Given the description of an element on the screen output the (x, y) to click on. 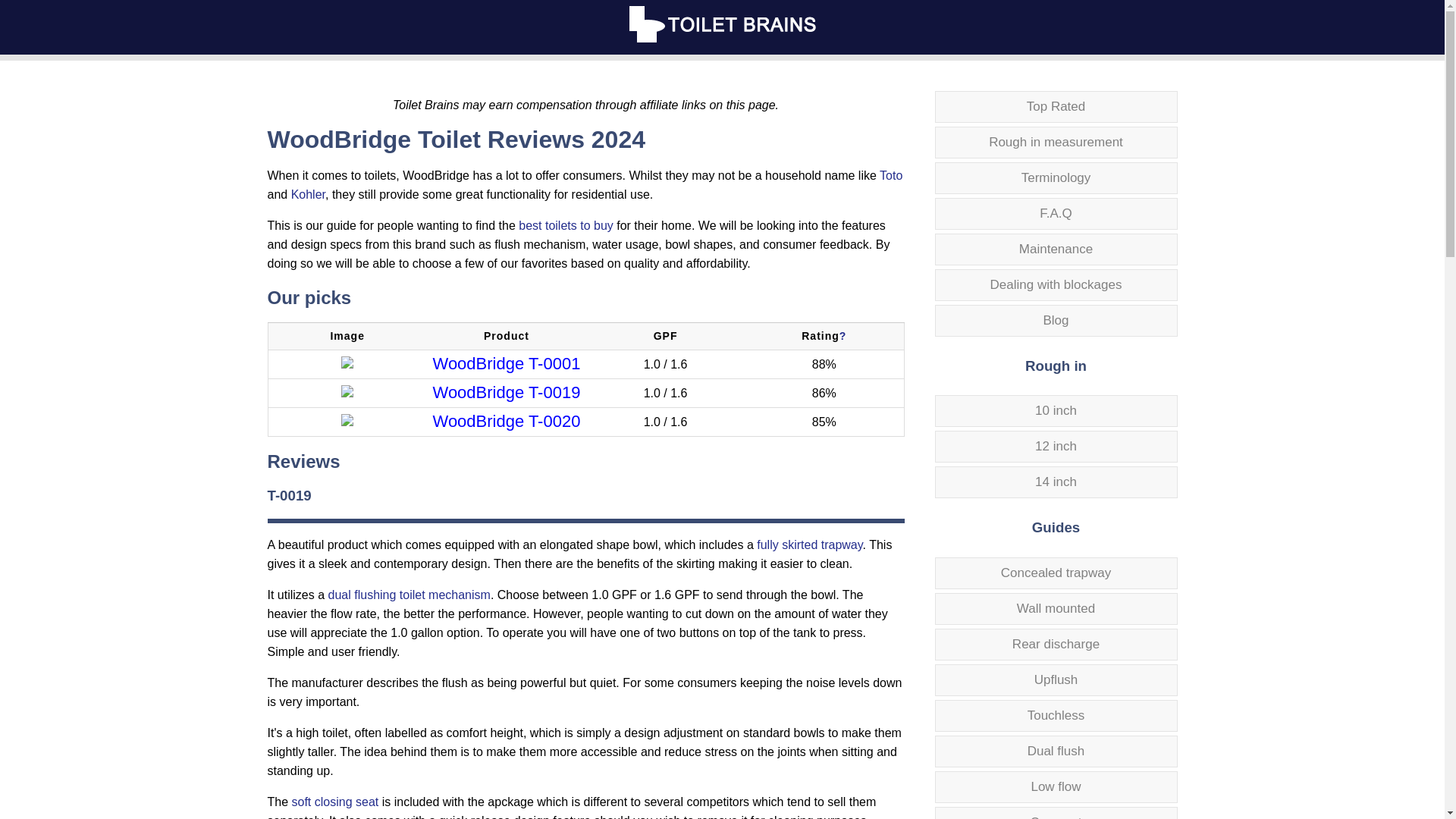
12 inch (1056, 446)
Dealing with blockages (1056, 285)
Blog (1056, 320)
Rough in measurement (1056, 142)
Touchless (1056, 716)
10 inch (1056, 410)
Upflush (1056, 680)
Concealed trapway (1056, 572)
Low flow (1056, 787)
Maintenance (1056, 249)
